Given the description of an element on the screen output the (x, y) to click on. 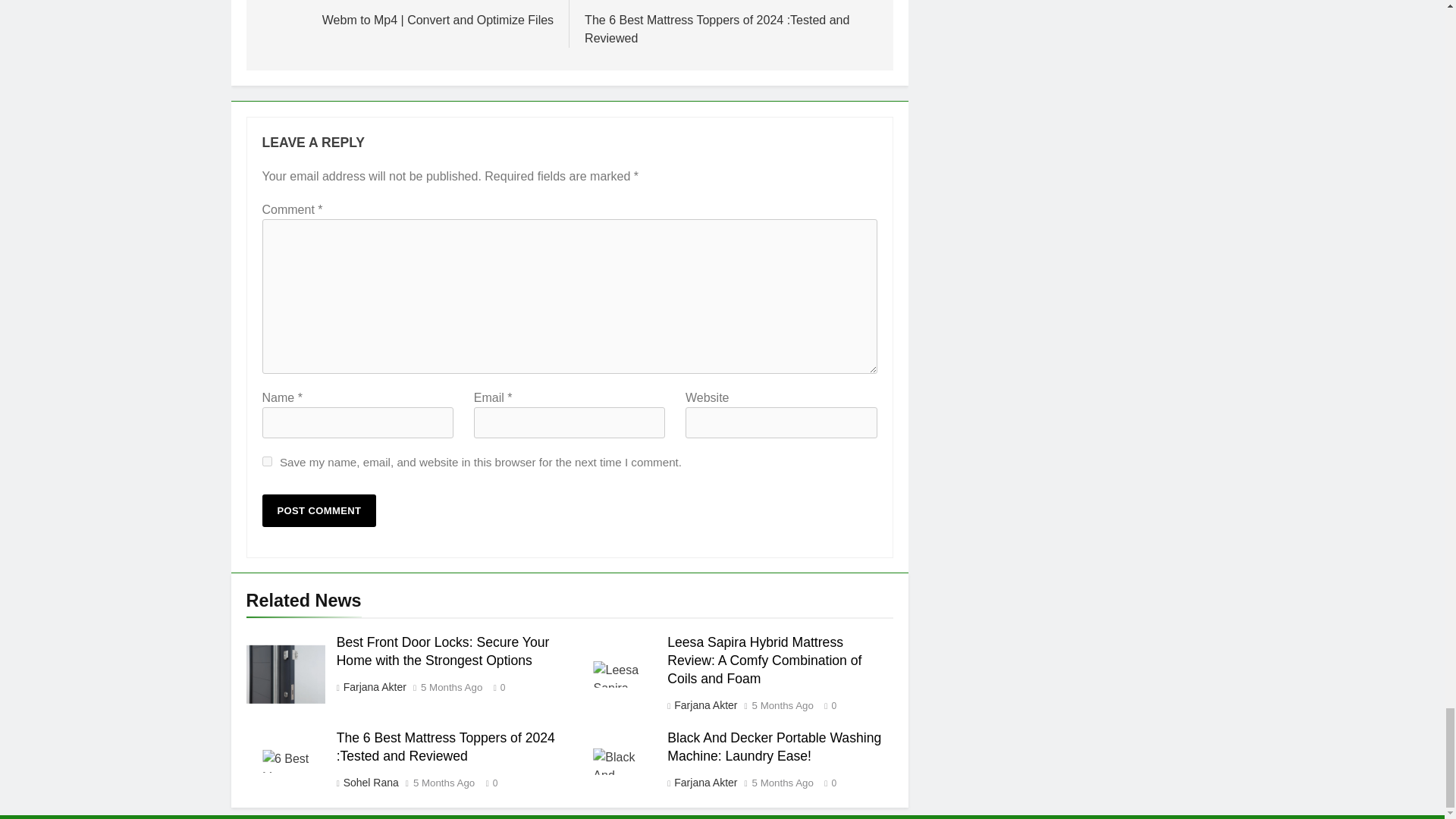
yes (267, 461)
Post Comment (319, 510)
